Given the description of an element on the screen output the (x, y) to click on. 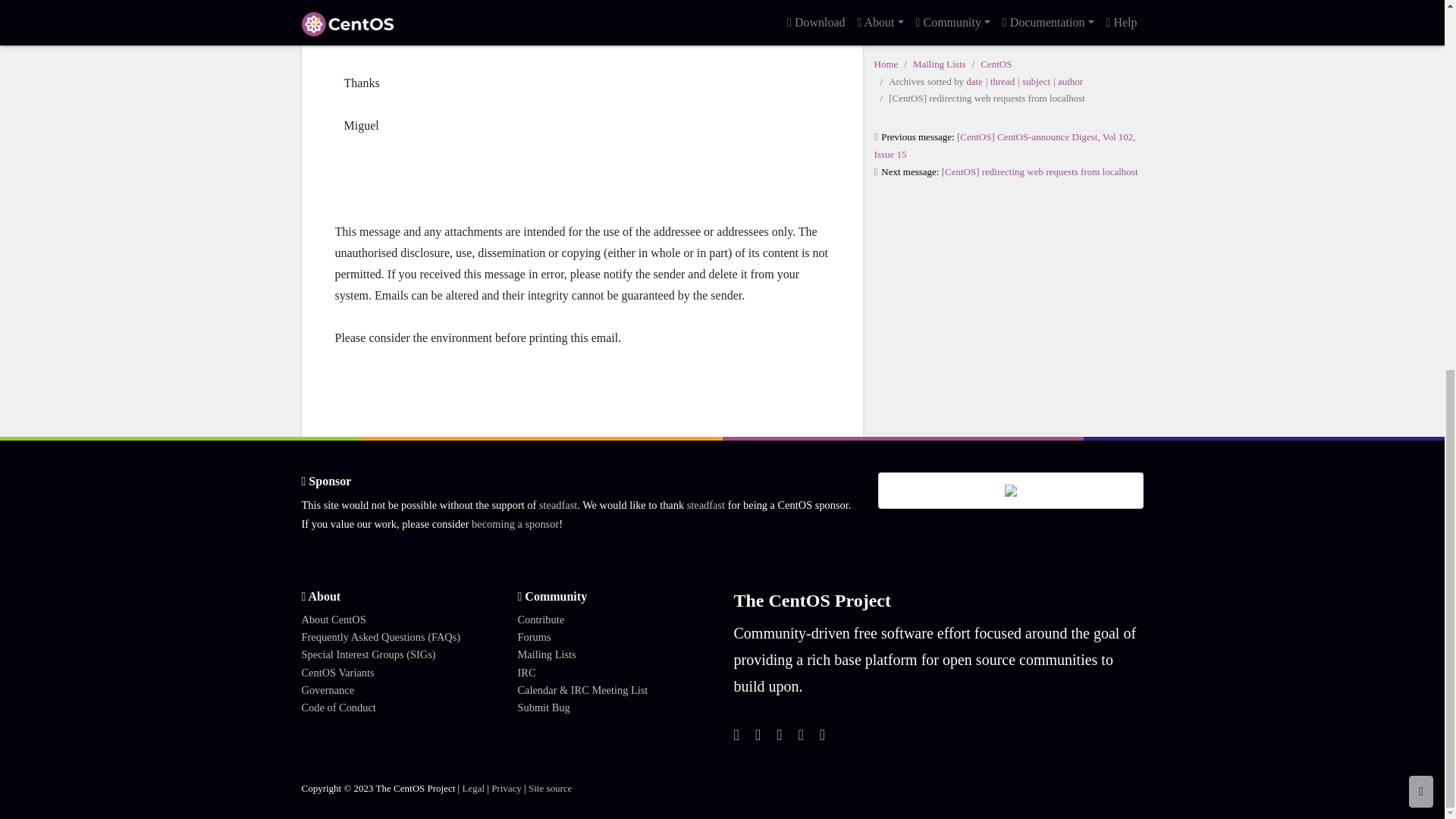
steadfast (706, 504)
About CentOS (333, 619)
CentOS Variants (337, 672)
steadfast (557, 504)
becoming a sponsor (515, 523)
